Given the description of an element on the screen output the (x, y) to click on. 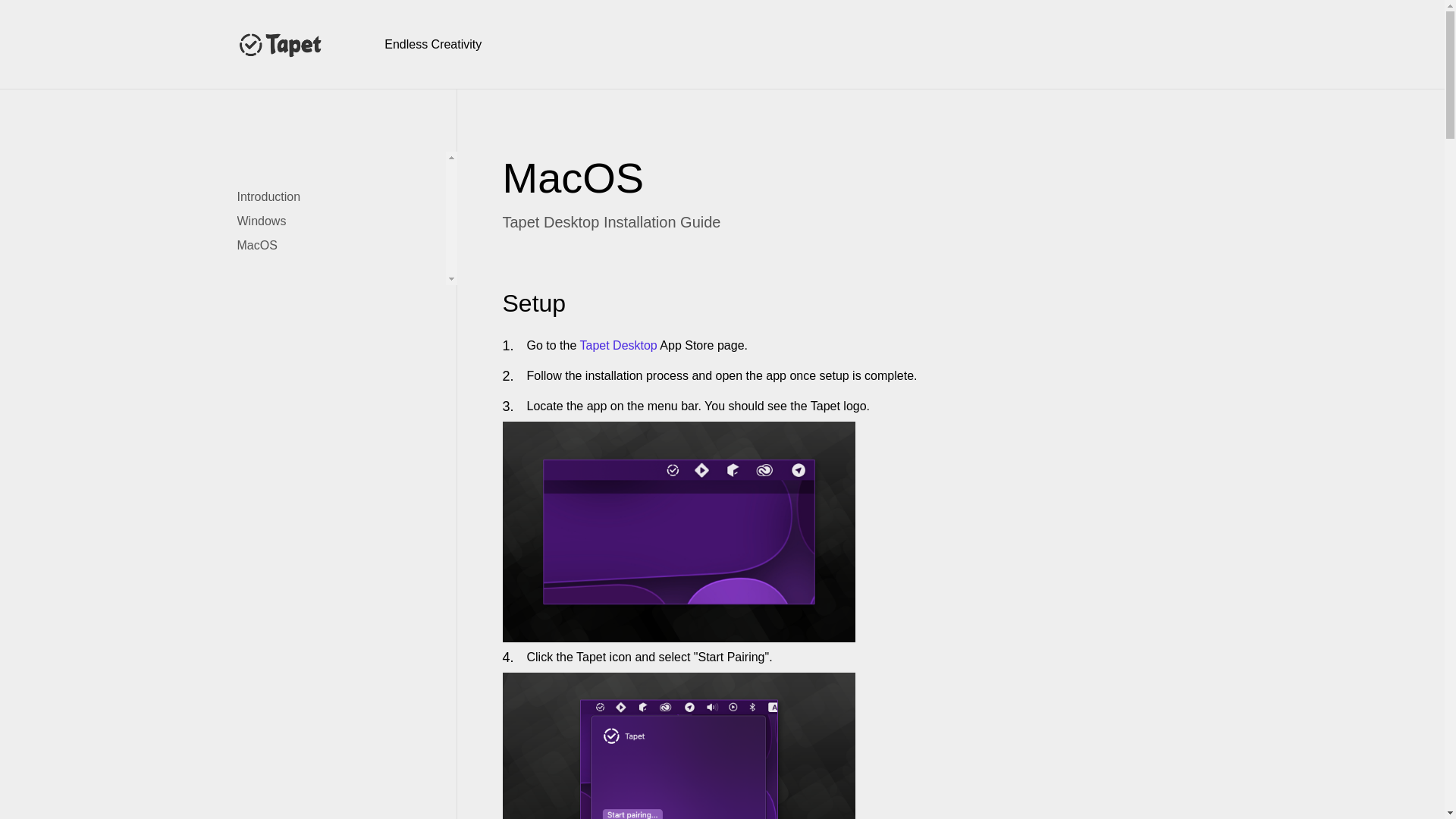
Endless Creativity (432, 43)
Windows (272, 221)
Tapet Desktop (617, 345)
Introduction (279, 197)
MacOS (268, 245)
